Given the description of an element on the screen output the (x, y) to click on. 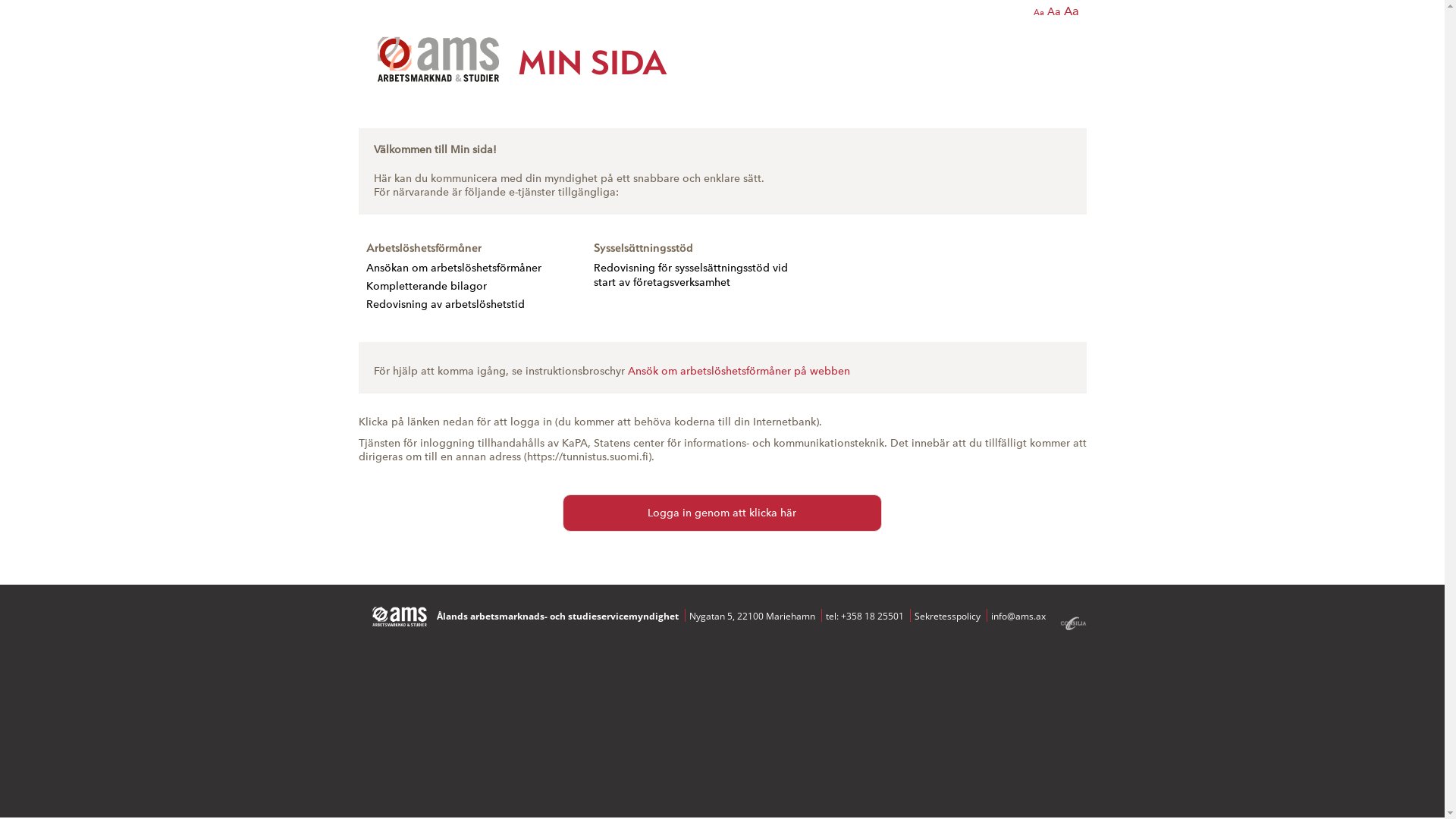
Aa Element type: text (1053, 11)
Sekretesspolicy Element type: text (947, 614)
Aa Element type: text (1070, 10)
info@ams.ax Element type: text (1018, 614)
Aa Element type: text (1037, 12)
